Given the description of an element on the screen output the (x, y) to click on. 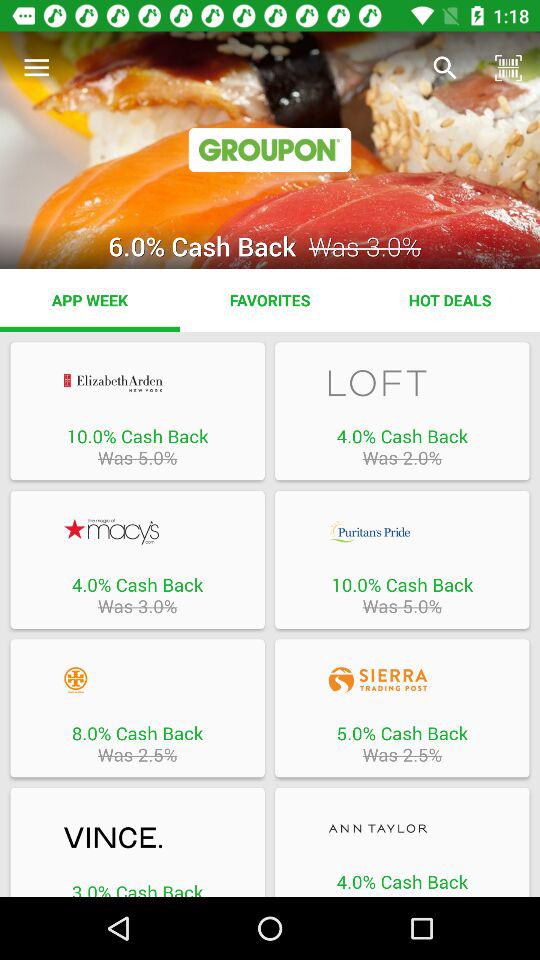
click vince option (137, 838)
